Given the description of an element on the screen output the (x, y) to click on. 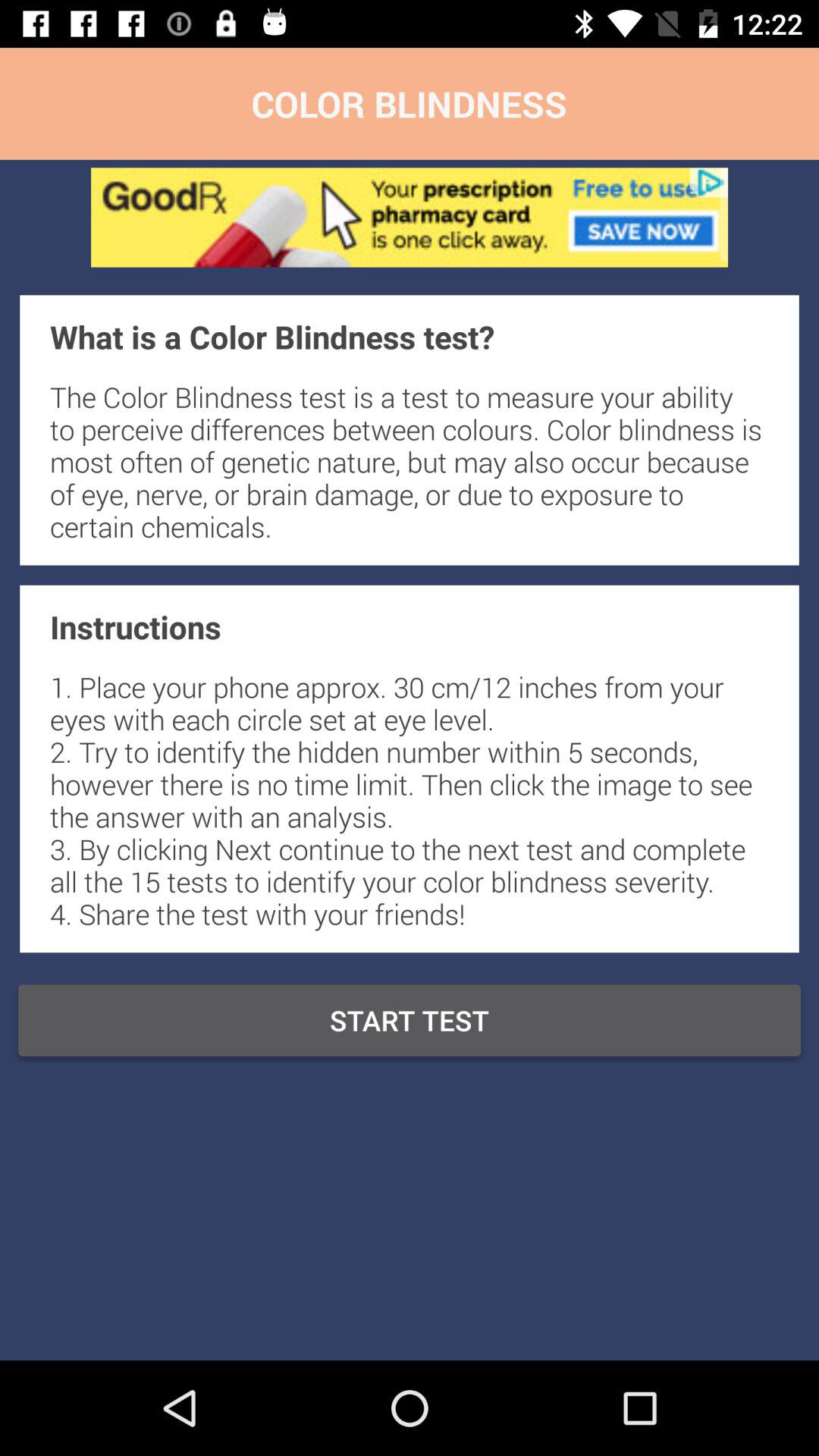
go to goodrx ap (409, 217)
